Given the description of an element on the screen output the (x, y) to click on. 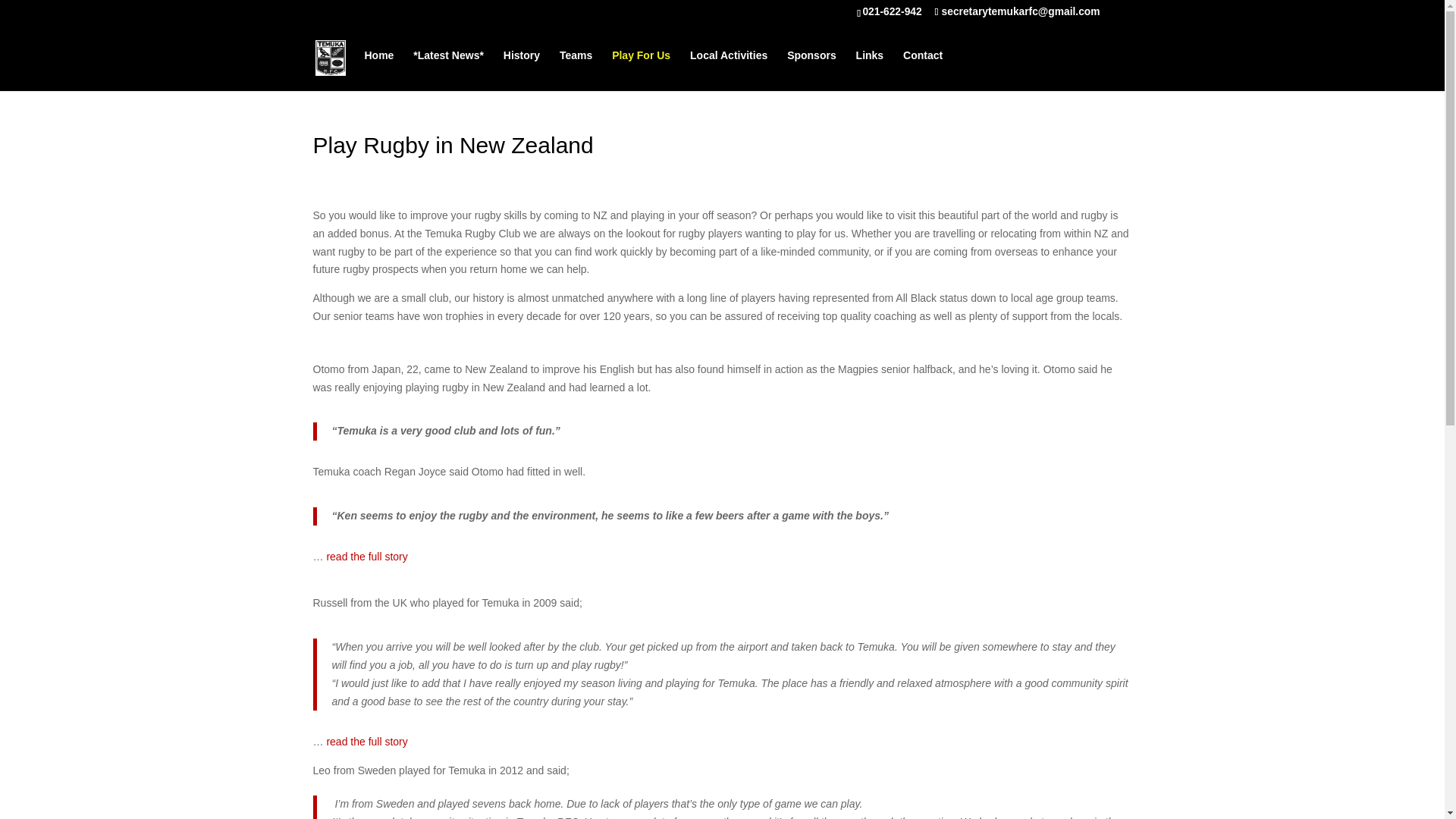
Home (378, 67)
Contact (922, 67)
read the full story (366, 556)
History (521, 67)
read the full story (366, 741)
Local Activities (728, 67)
Teams (575, 67)
Play For Us (640, 67)
Sponsors (811, 67)
Links (869, 67)
